Given the description of an element on the screen output the (x, y) to click on. 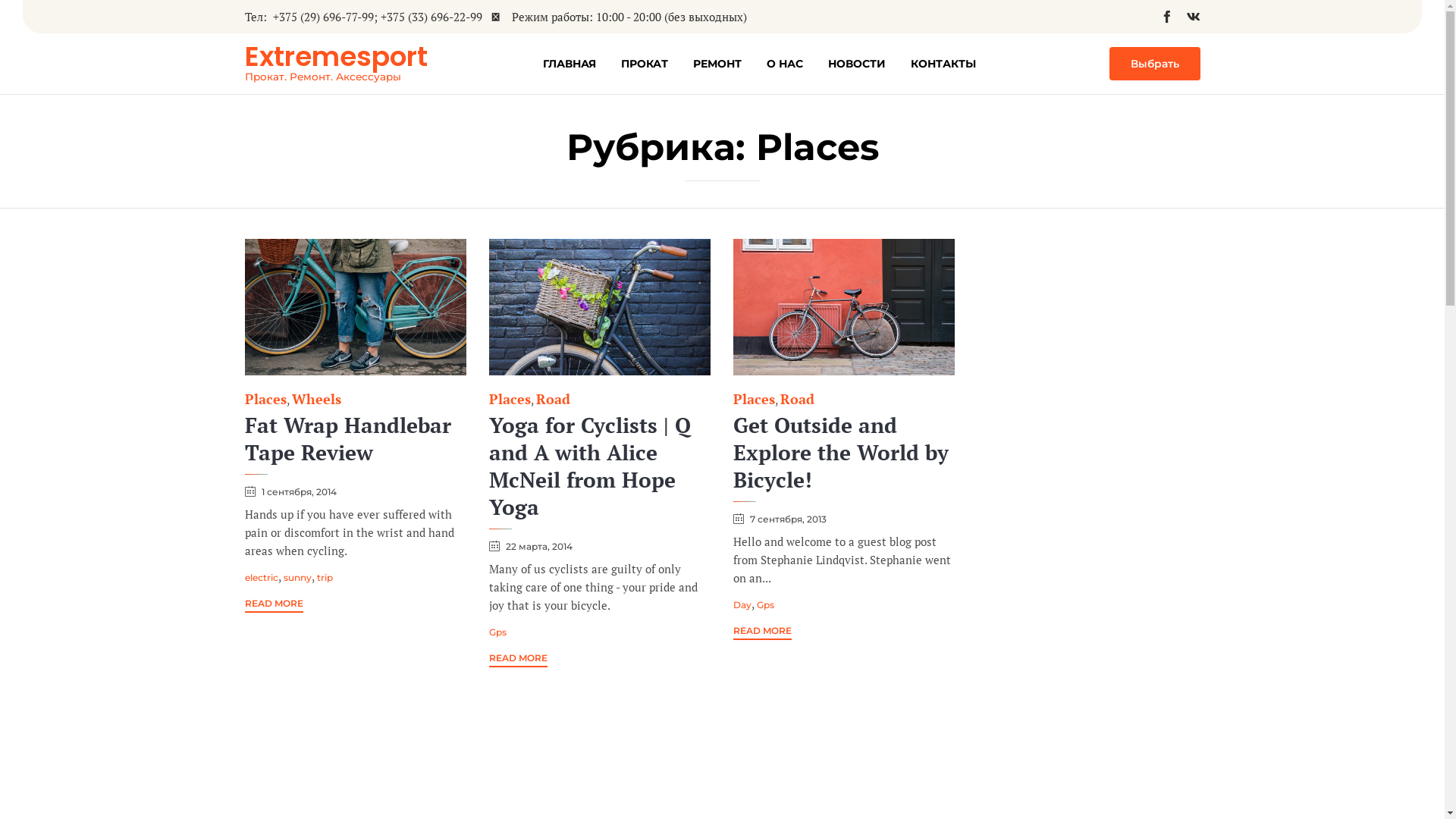
electric Element type: text (260, 577)
Gps Element type: text (496, 631)
Road Element type: text (552, 398)
Yoga for Cyclists | Q and A with Alice McNeil from Hope Yoga Element type: hover (598, 306)
Day Element type: text (741, 604)
Places Element type: text (509, 398)
Extremesport Element type: text (335, 56)
sunny Element type: text (297, 577)
trip Element type: text (324, 577)
READ MORE Element type: text (761, 632)
Places Element type: text (264, 398)
Places Element type: text (753, 398)
Skip to content Element type: text (1093, 49)
Fat Wrap Handlebar Tape Review Element type: text (347, 438)
Gps Element type: text (765, 604)
Get Outside and Explore the World by Bicycle! Element type: text (839, 452)
Fat Wrap Handlebar Tape Review Element type: hover (354, 306)
Wheels Element type: text (315, 398)
READ MORE Element type: text (273, 605)
Yoga for Cyclists | Q and A with Alice McNeil from Hope Yoga Element type: text (589, 465)
Road Element type: text (796, 398)
READ MORE Element type: text (517, 659)
Get Outside and Explore the World by Bicycle! Element type: hover (842, 306)
